Given the description of an element on the screen output the (x, y) to click on. 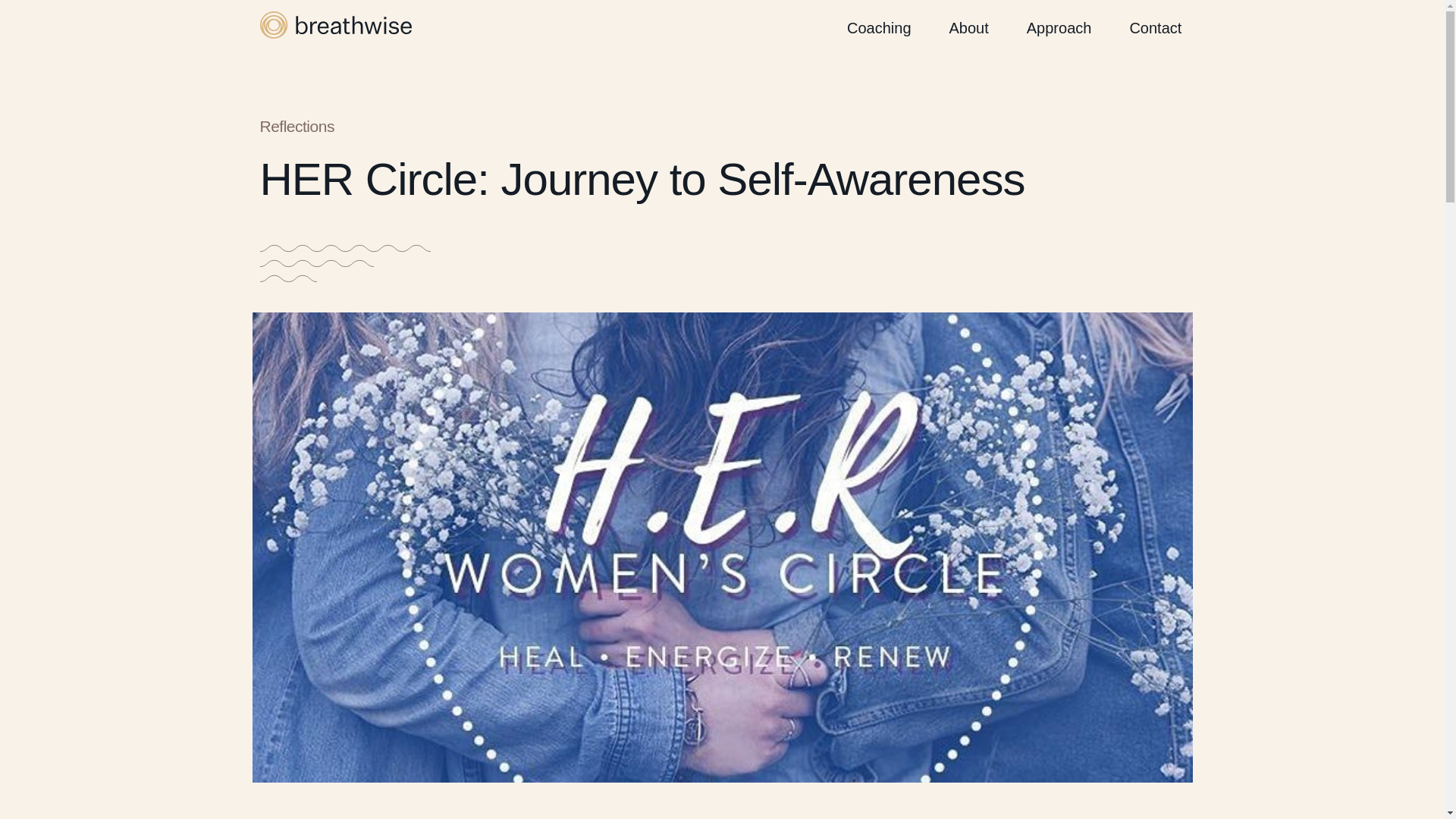
About (968, 27)
Approach (1059, 27)
Contact (1154, 27)
Coaching (879, 27)
